Given the description of an element on the screen output the (x, y) to click on. 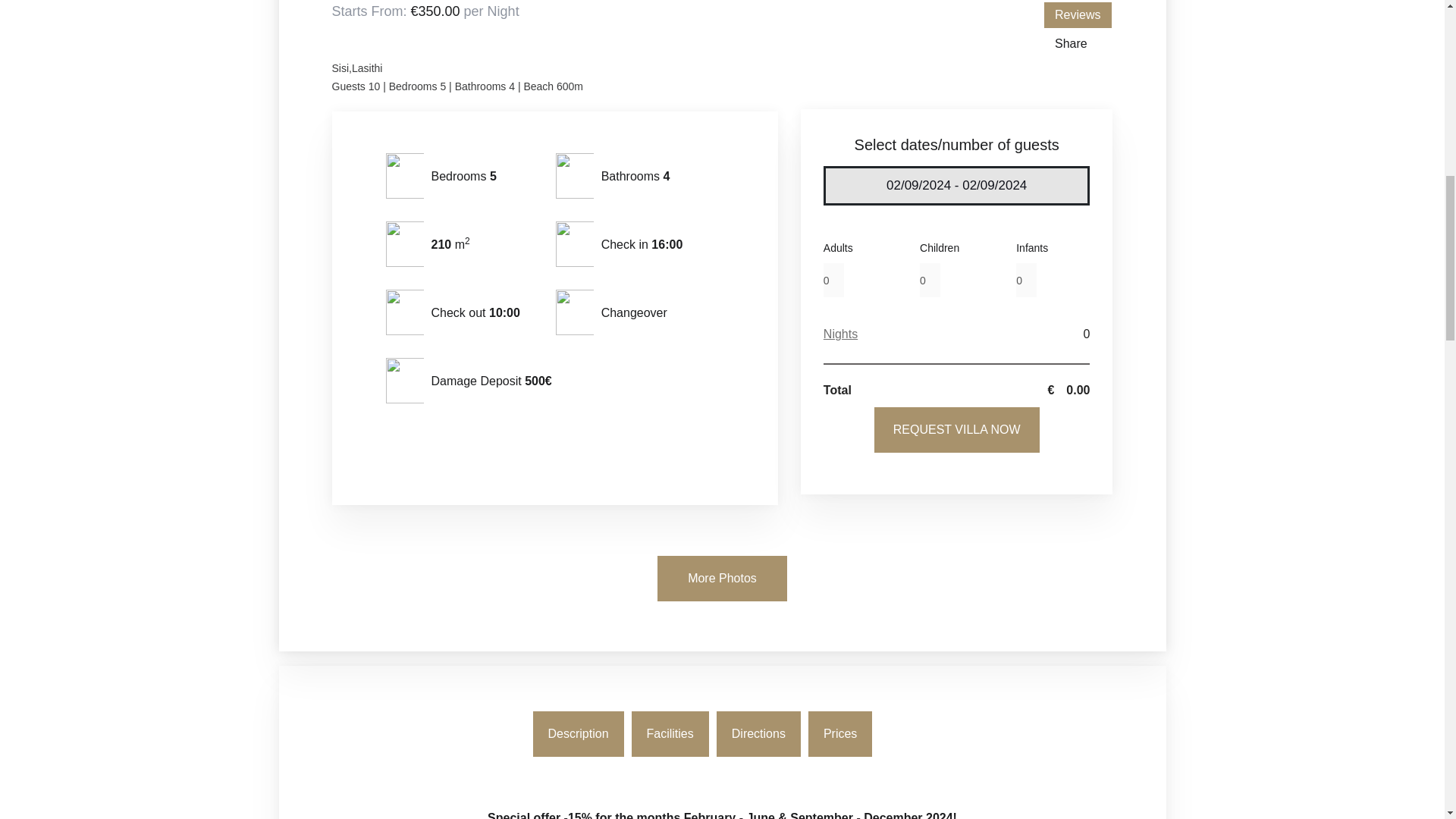
Reviews (1076, 14)
REQUEST VILLA NOW (957, 429)
Nights (840, 334)
More Photos (722, 578)
